Given the description of an element on the screen output the (x, y) to click on. 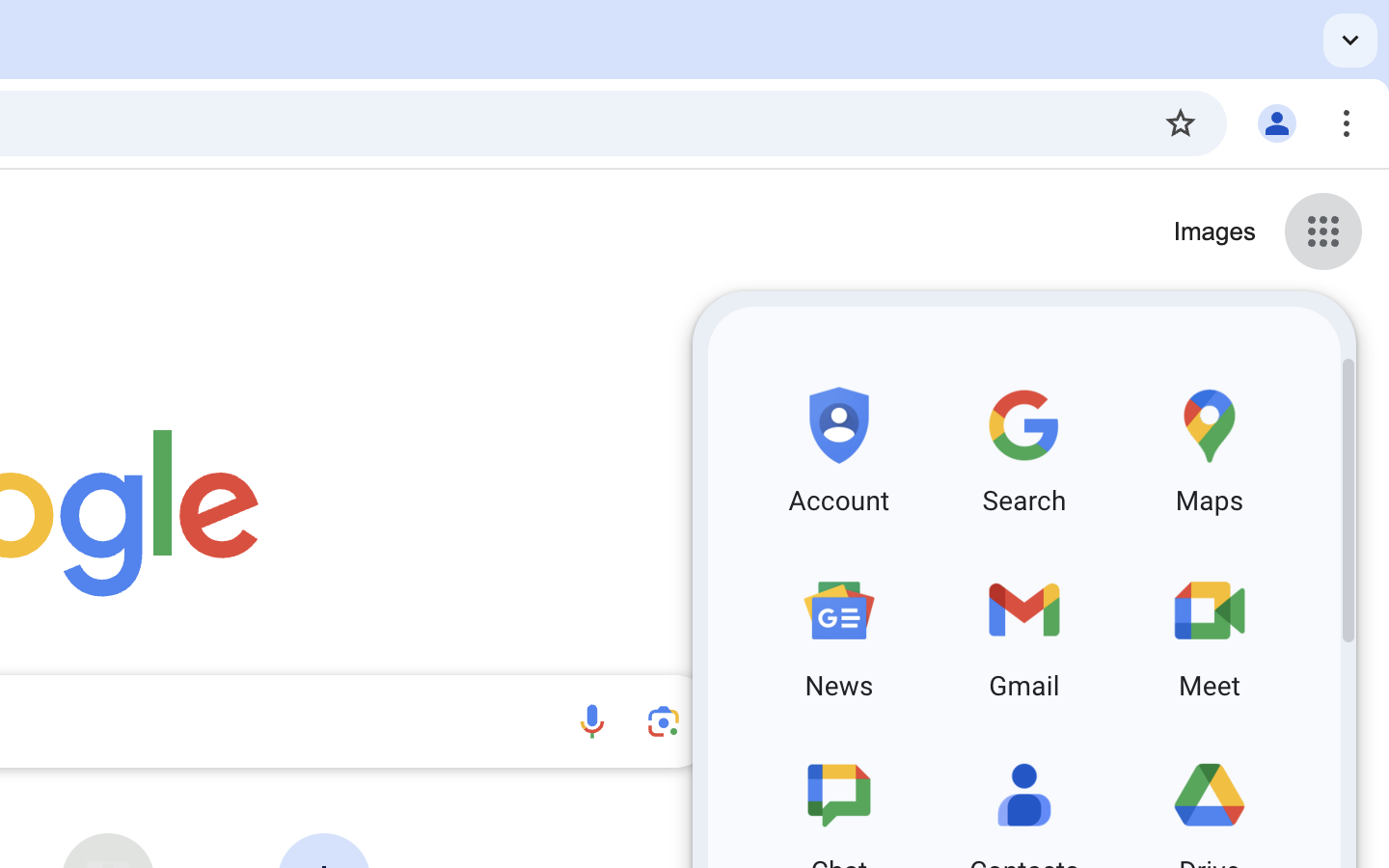
Images Element type: AXStaticText (1213, 231)
